Given the description of an element on the screen output the (x, y) to click on. 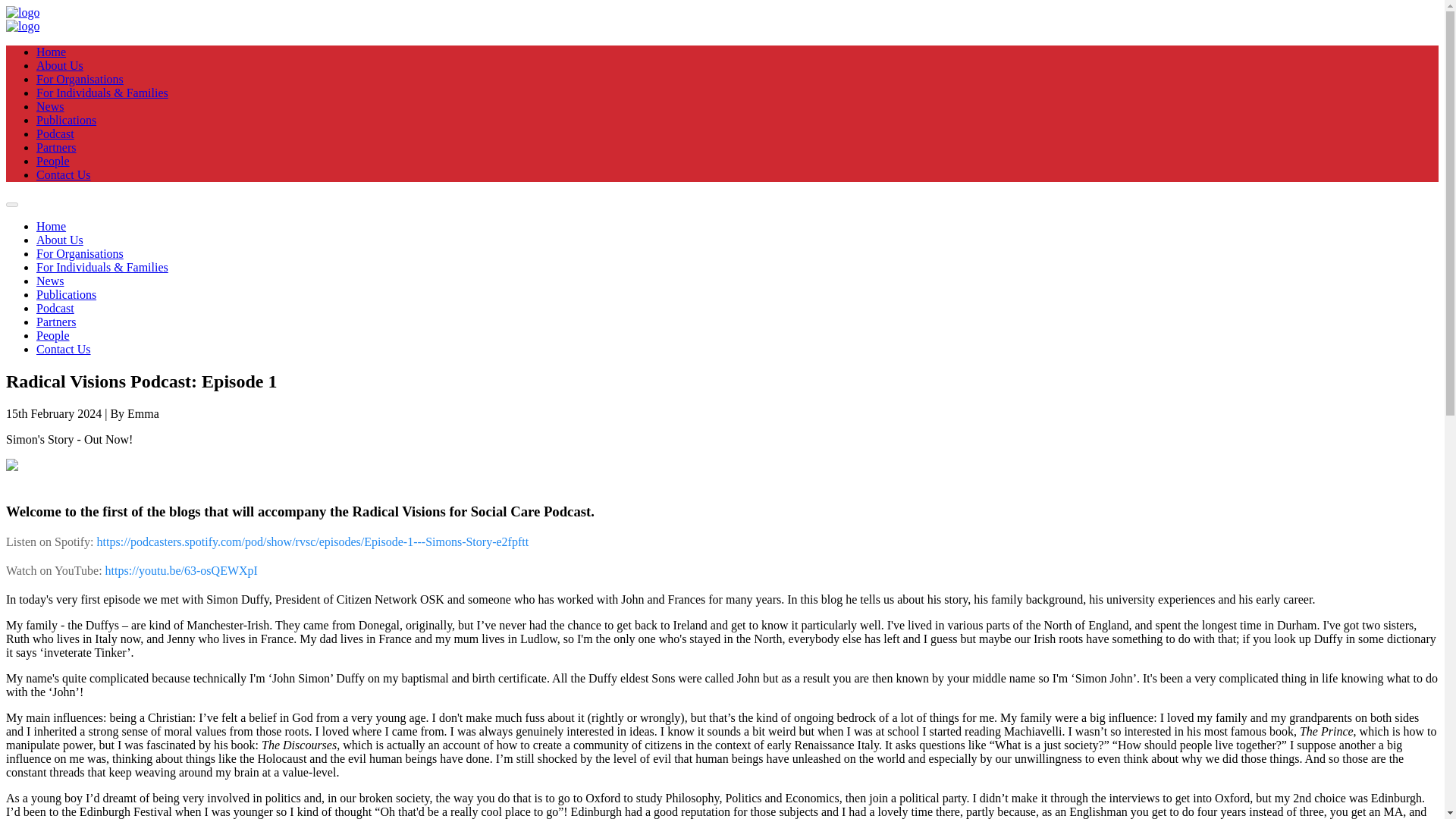
People (52, 160)
Publications (66, 119)
Home (50, 226)
News (50, 280)
Podcast (55, 308)
Home (50, 51)
Podcast (55, 133)
People (52, 335)
Partners (55, 321)
Partners (55, 146)
